Given the description of an element on the screen output the (x, y) to click on. 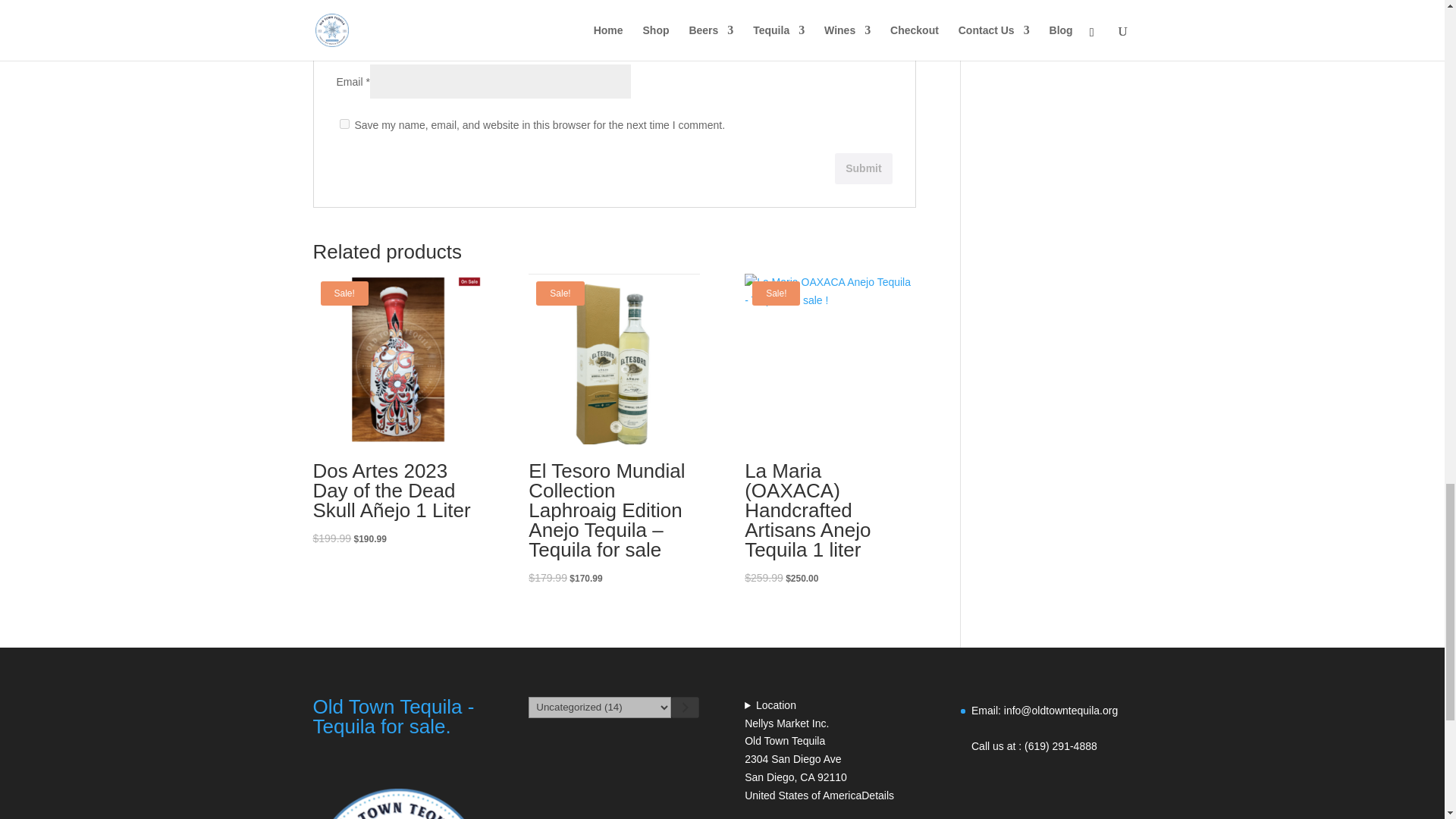
Submit (862, 168)
yes (344, 123)
